Given the description of an element on the screen output the (x, y) to click on. 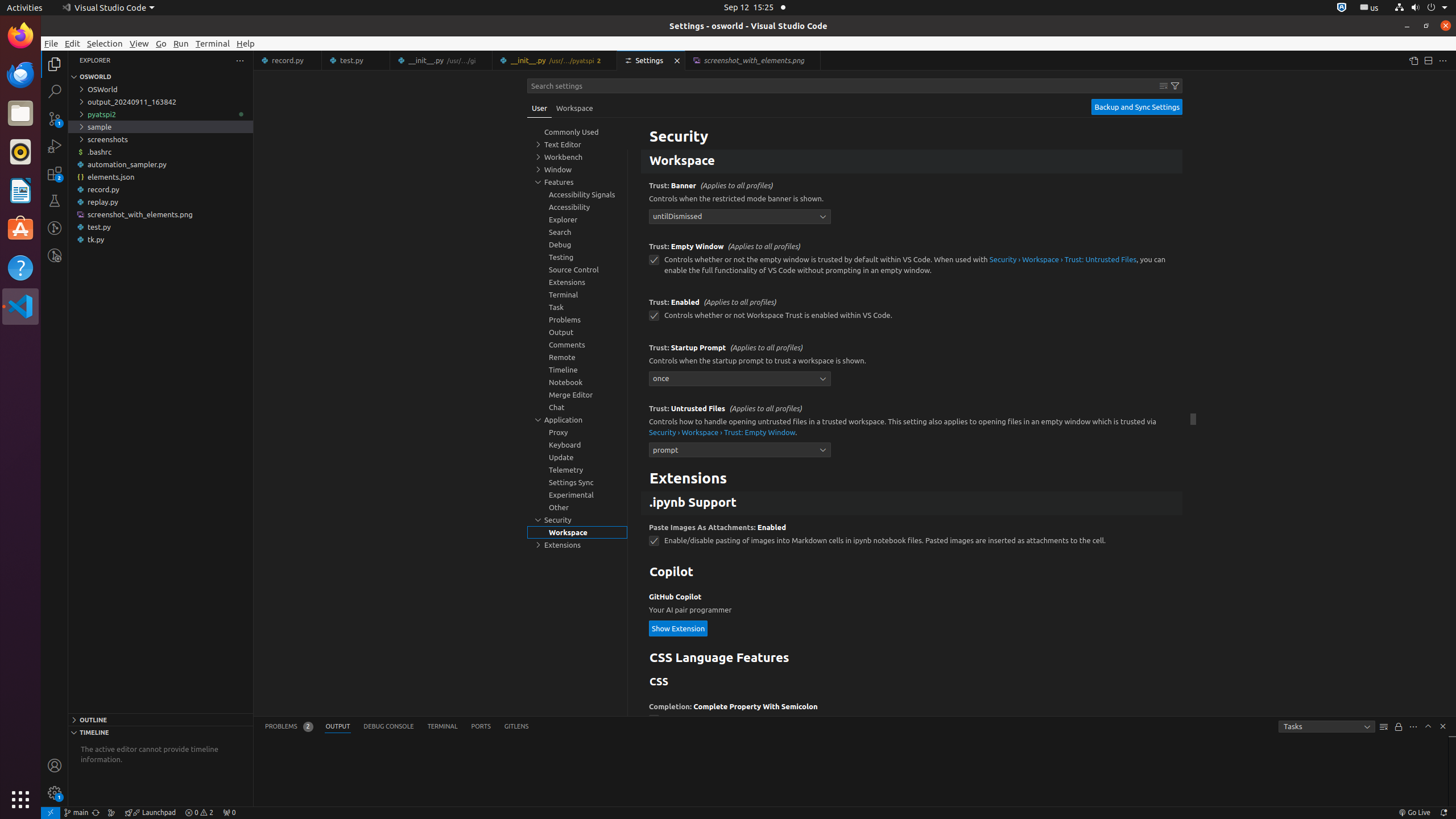
Clear Output Element type: push-button (1383, 726)
Workbench, group Element type: tree-item (577, 156)
Text Editor, group Element type: tree-item (577, 144)
Run and Debug (Ctrl+Shift+D) Element type: page-tab (54, 145)
